Given the description of an element on the screen output the (x, y) to click on. 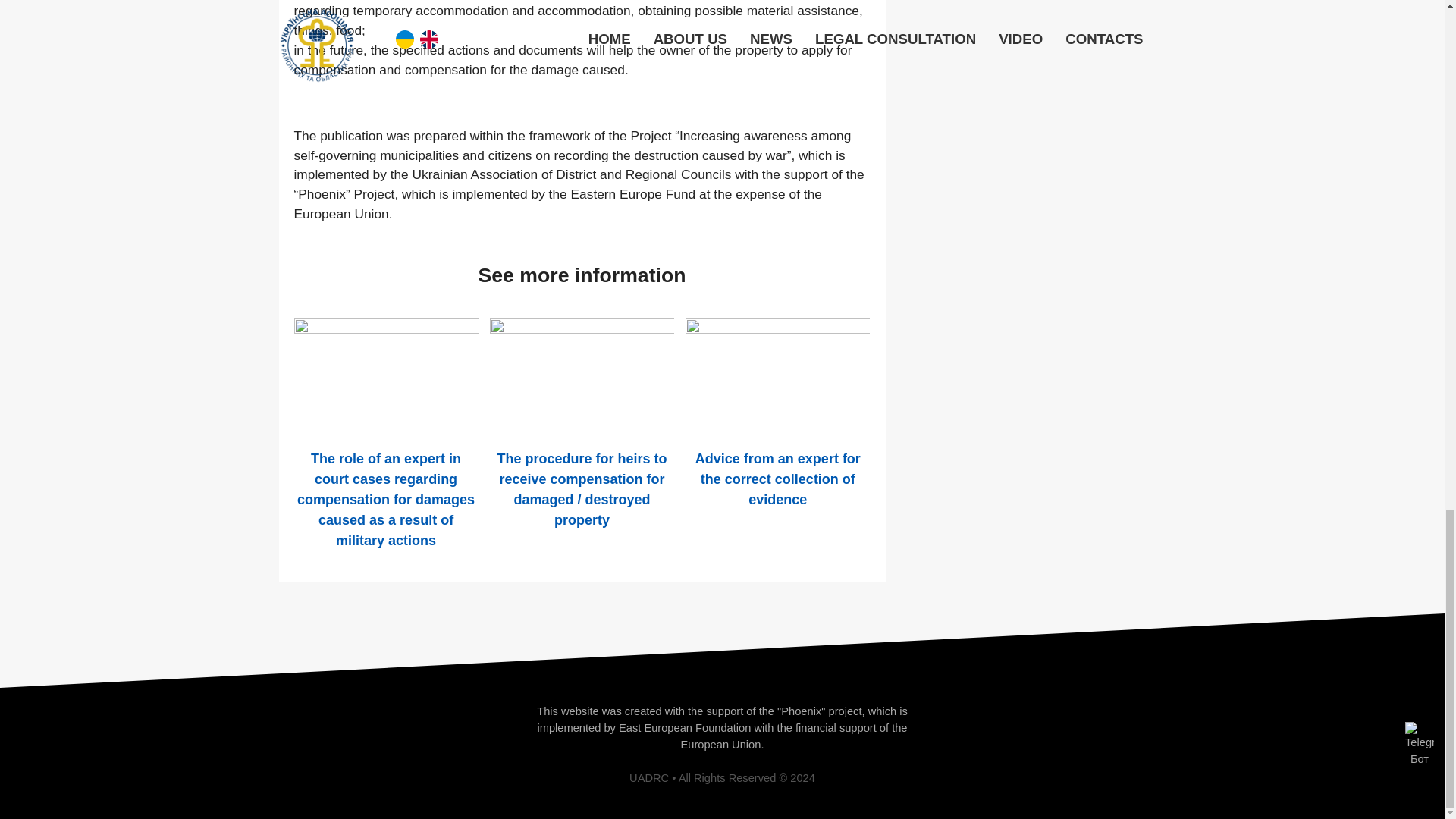
Advice from an expert for the correct collection of evidence (777, 478)
